Given the description of an element on the screen output the (x, y) to click on. 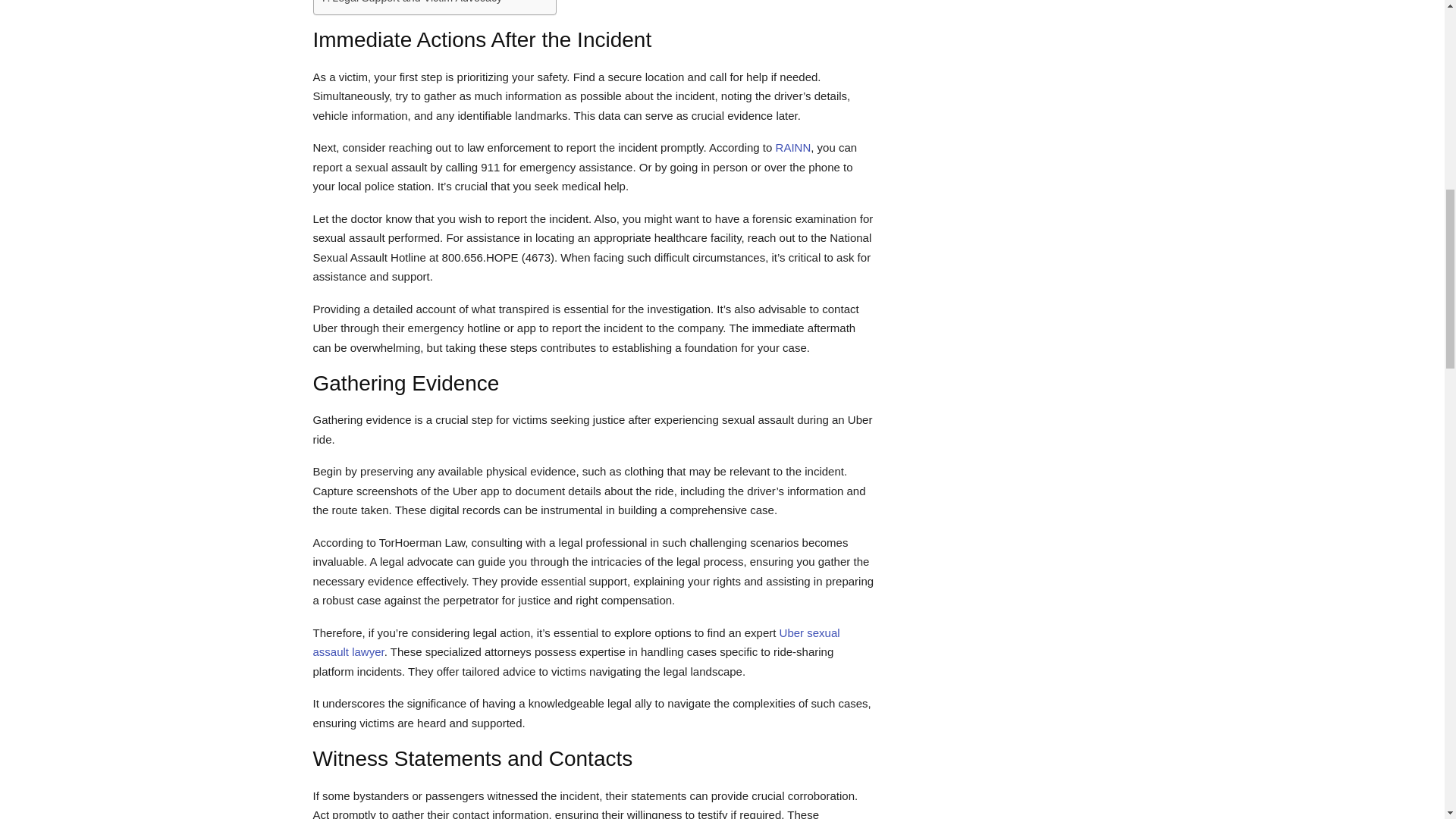
Uber sexual assault lawyer (576, 642)
Legal Support and Victim Advocacy (411, 3)
RAINN (790, 146)
Legal Support and Victim Advocacy (411, 3)
